Given the description of an element on the screen output the (x, y) to click on. 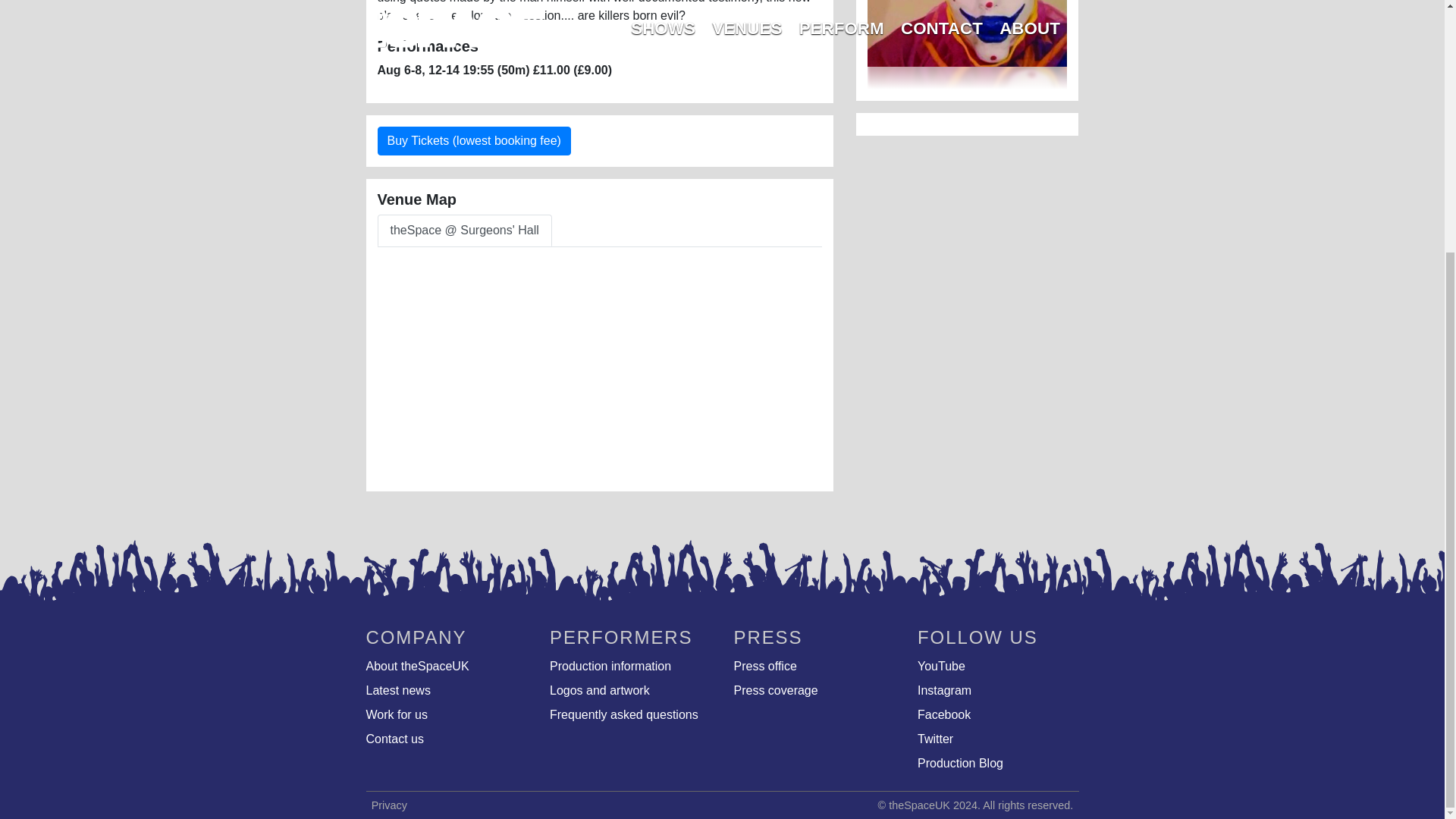
About theSpaceUK (446, 669)
Twitter (997, 742)
Press coverage (814, 693)
YouTube (997, 669)
Production Blog (997, 766)
Production information (630, 669)
Work for us (446, 717)
Logos and artwork (630, 693)
Frequently asked questions (630, 717)
Contact us (446, 742)
Instagram (997, 693)
Privacy (389, 805)
Latest news (446, 693)
Facebook (997, 717)
Press office (814, 669)
